Given the description of an element on the screen output the (x, y) to click on. 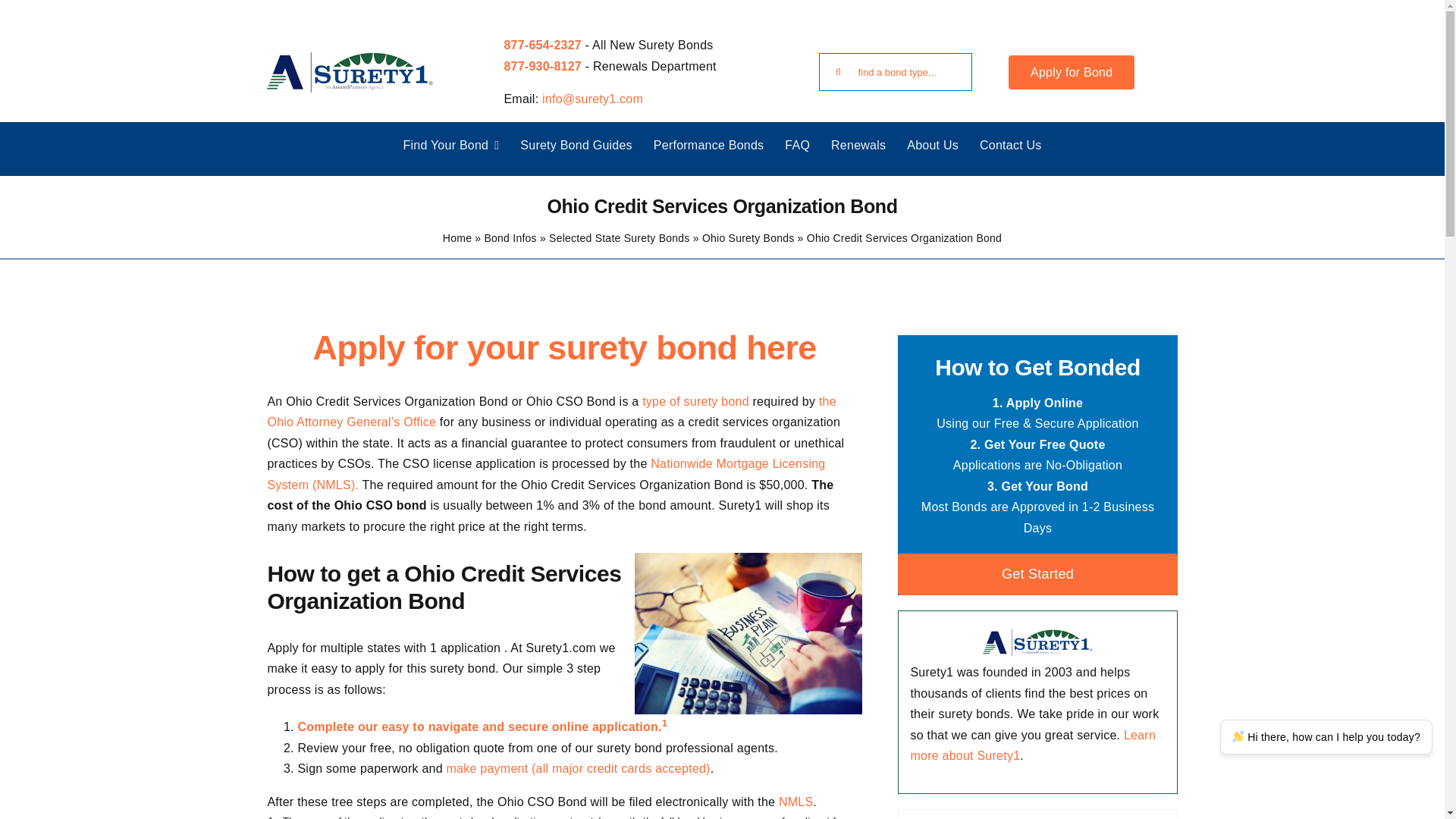
877-654-2327 (541, 44)
Apply for Bond (1071, 72)
Find Your Bond (450, 144)
logo-sidebar-145 (1037, 641)
877-930-8127 (541, 65)
